Given the description of an element on the screen output the (x, y) to click on. 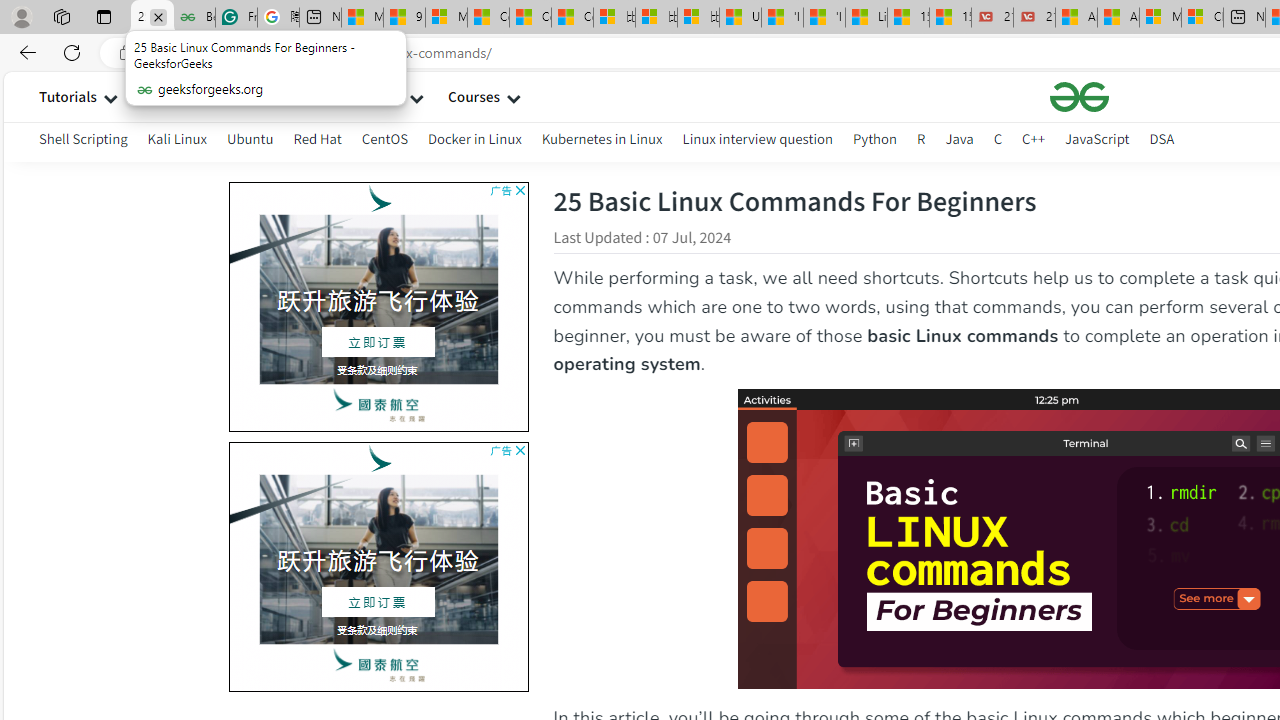
AutomationID: cbb (519, 449)
Shell Scripting (83, 142)
Web Tech (372, 96)
R (921, 138)
Courses (474, 96)
C++ (1034, 142)
Kali Linux (176, 138)
15 Ways Modern Life Contradicts the Teachings of Jesus (950, 17)
AutomationID: tag (378, 565)
CentOS (384, 138)
Kali Linux (176, 142)
JavaScript (1097, 138)
